Given the description of an element on the screen output the (x, y) to click on. 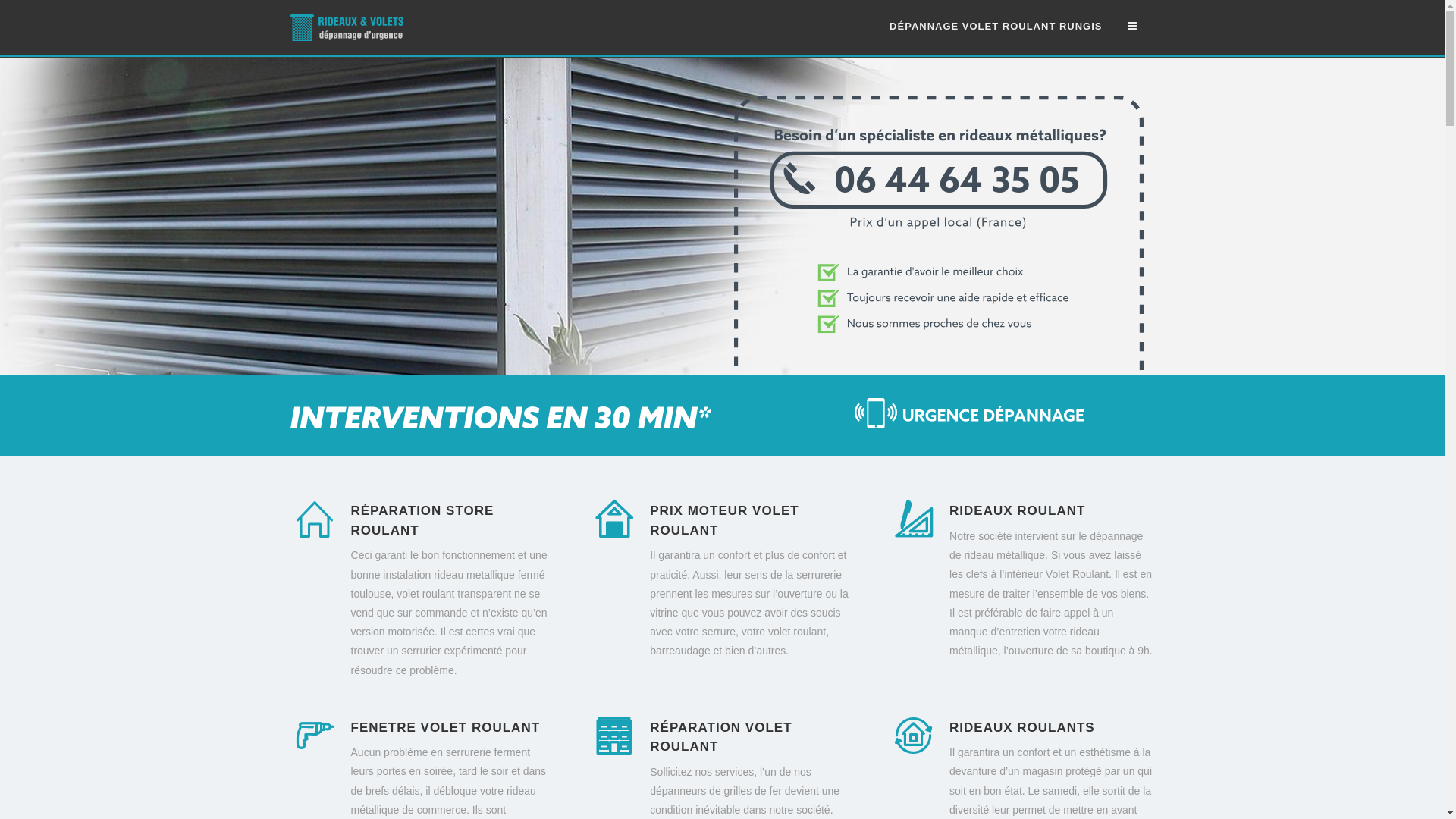
06 44 64 35 05 Element type: text (938, 366)
RIDEAUX ROULANT Element type: text (1017, 510)
FENETRE VOLET ROULANT Element type: text (444, 727)
RIDEAUX ROULANTS Element type: text (1022, 727)
PRIX MOTEUR VOLET ROULANT Element type: text (723, 520)
